Given the description of an element on the screen output the (x, y) to click on. 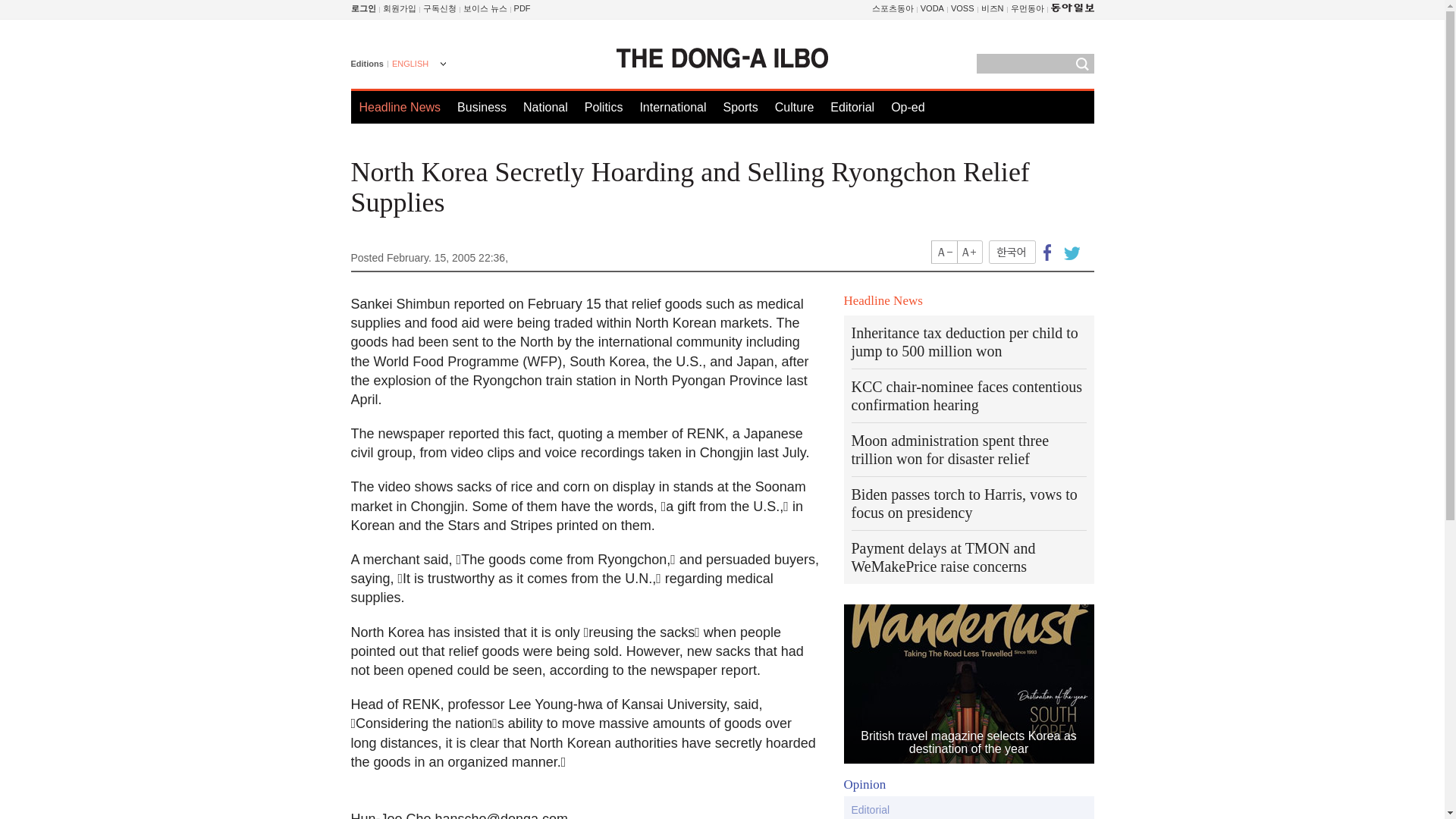
VOSS (962, 8)
SPORTS (893, 8)
VOSS (962, 8)
VODA (931, 8)
Headline News (400, 106)
Font size up (969, 251)
VODA (931, 8)
Editorial (852, 106)
BIZN (992, 8)
PDF (522, 8)
Culture (793, 106)
VOICE (484, 8)
PDF (522, 8)
National (544, 106)
Share this article on Twitter (1069, 251)
